Given the description of an element on the screen output the (x, y) to click on. 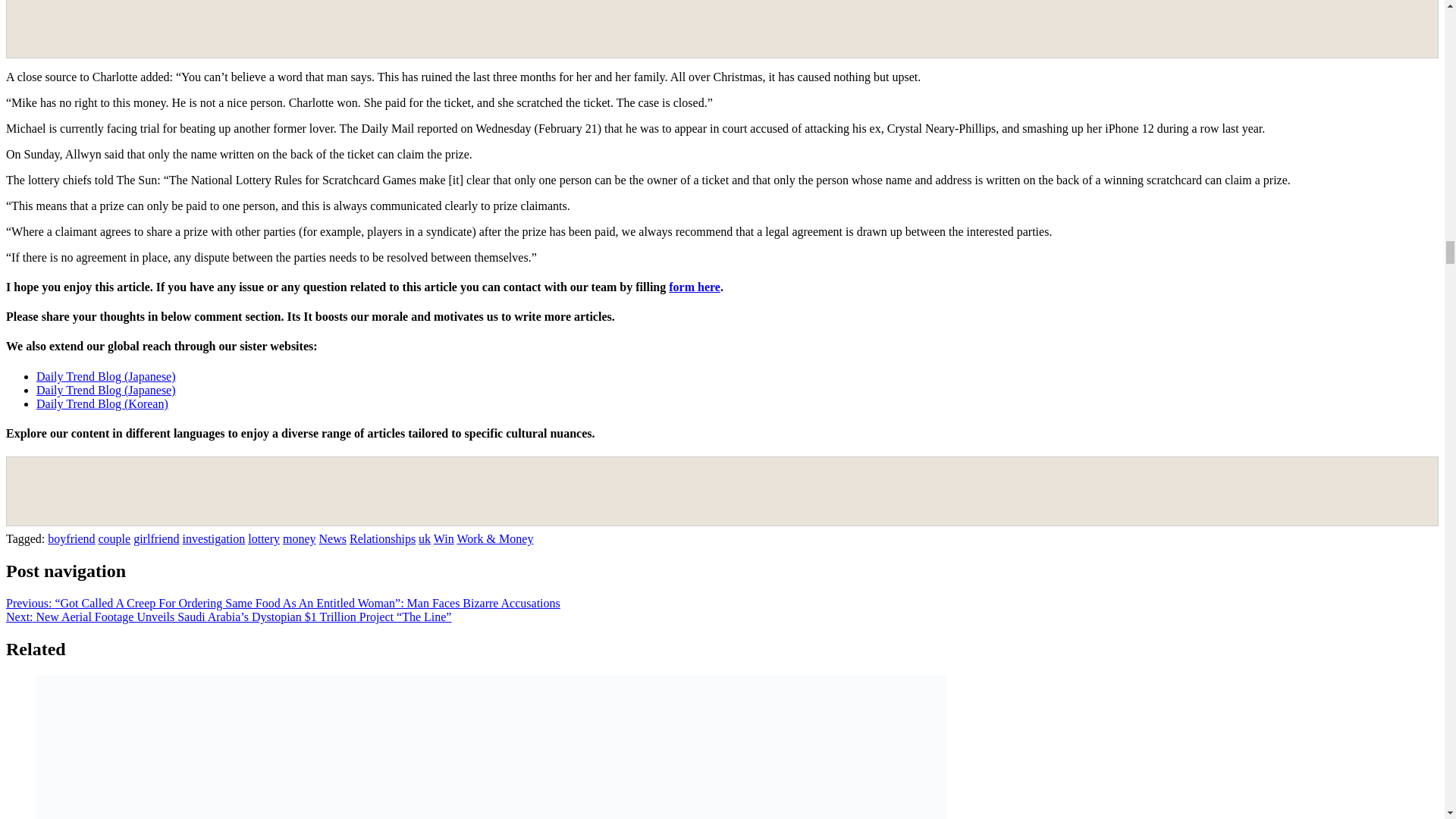
boyfriend (71, 538)
couple (115, 538)
form here (694, 286)
girlfriend (156, 538)
